Given the description of an element on the screen output the (x, y) to click on. 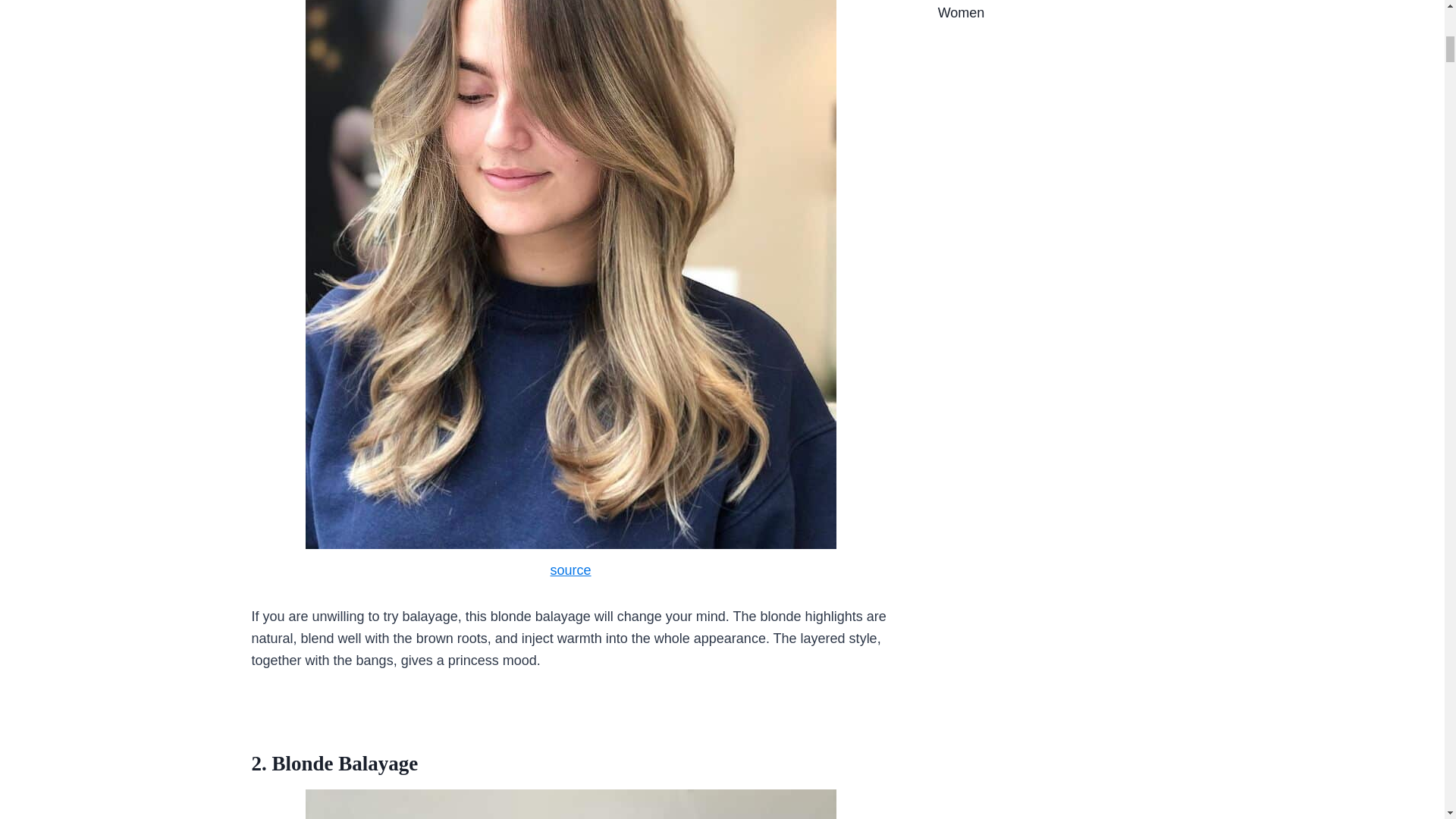
source (570, 570)
